Given the description of an element on the screen output the (x, y) to click on. 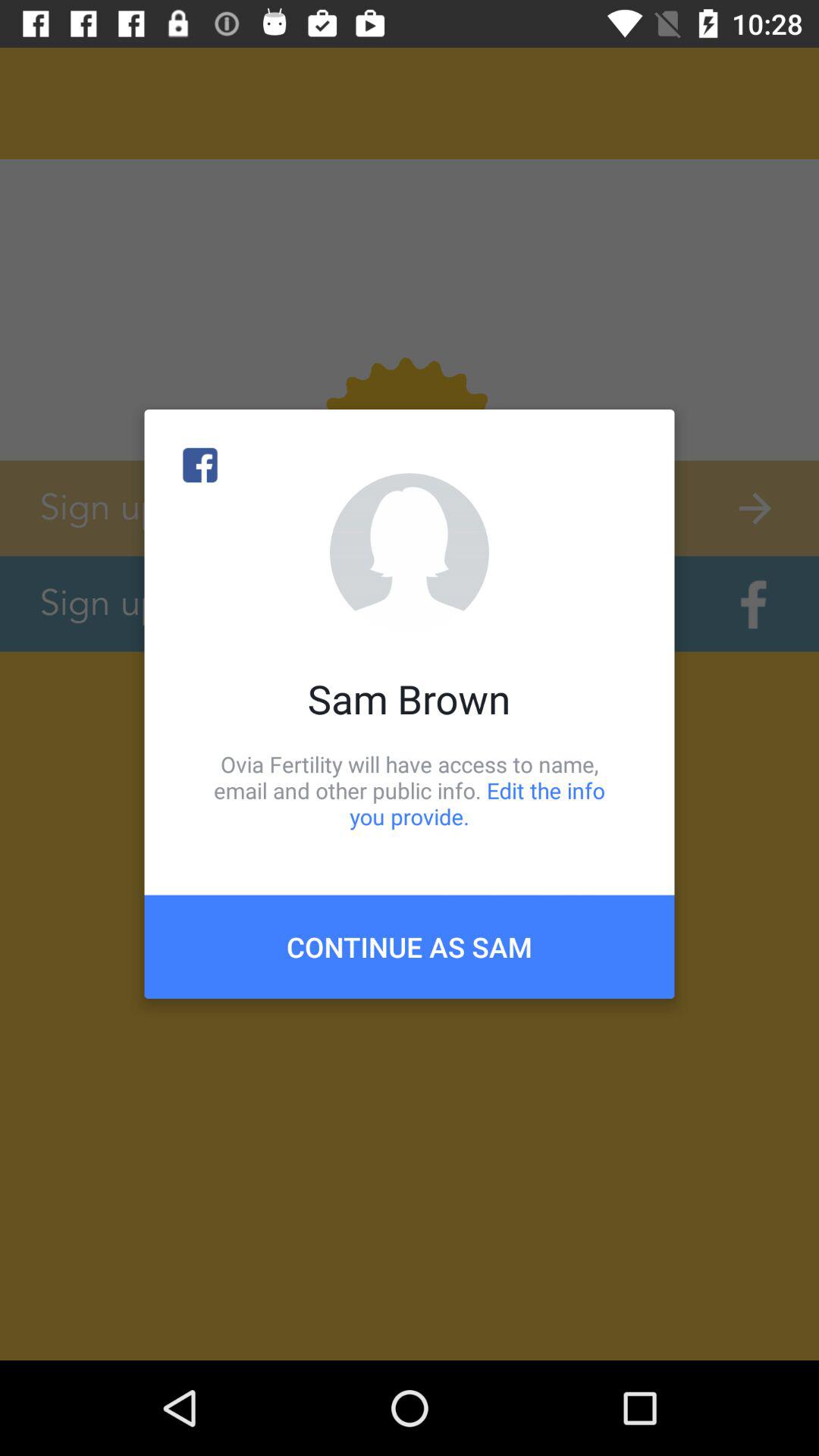
open continue as sam icon (409, 946)
